Given the description of an element on the screen output the (x, y) to click on. 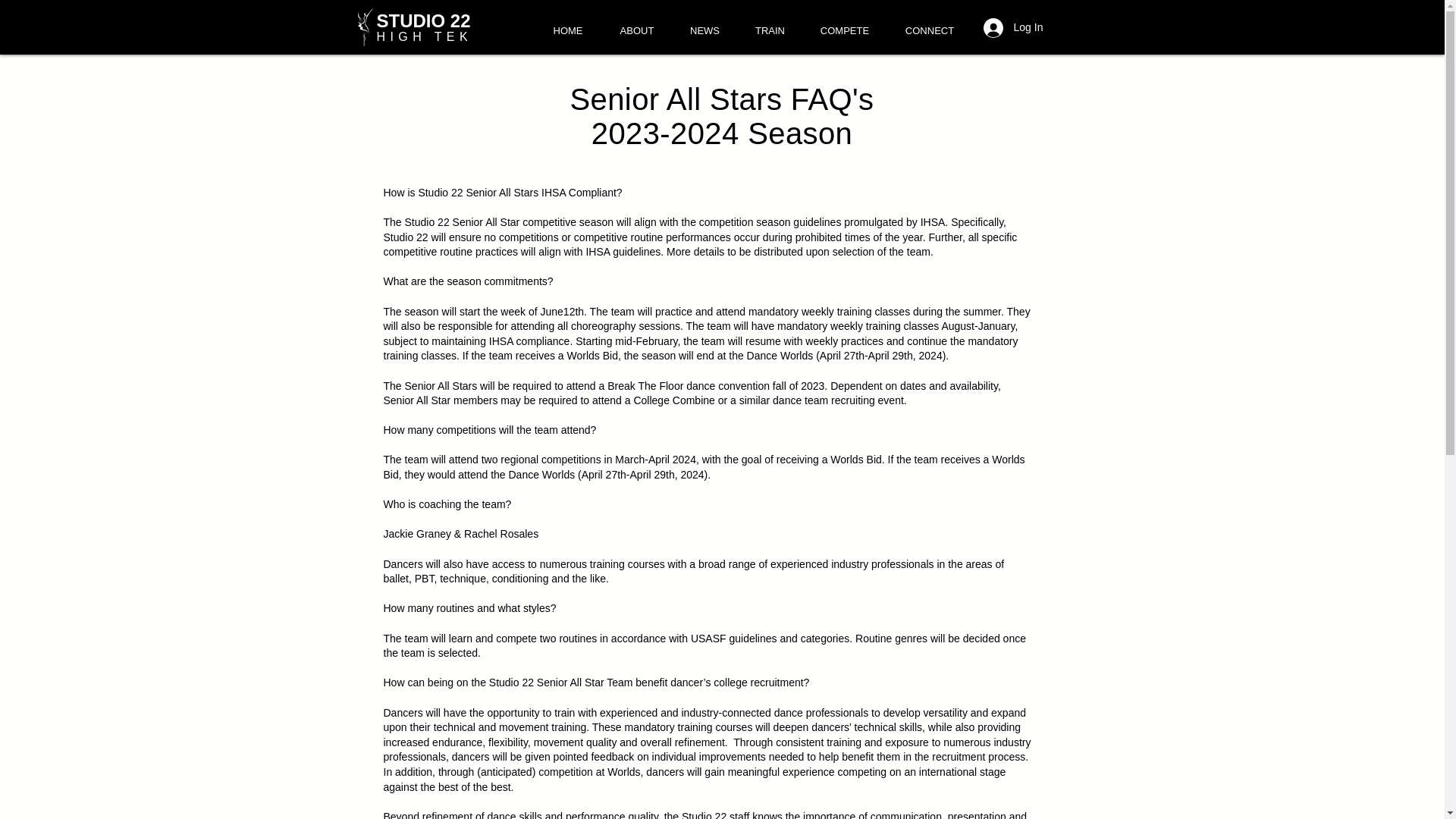
Log In (1011, 27)
HOME (567, 30)
0 (1066, 27)
0 (1066, 27)
